Given the description of an element on the screen output the (x, y) to click on. 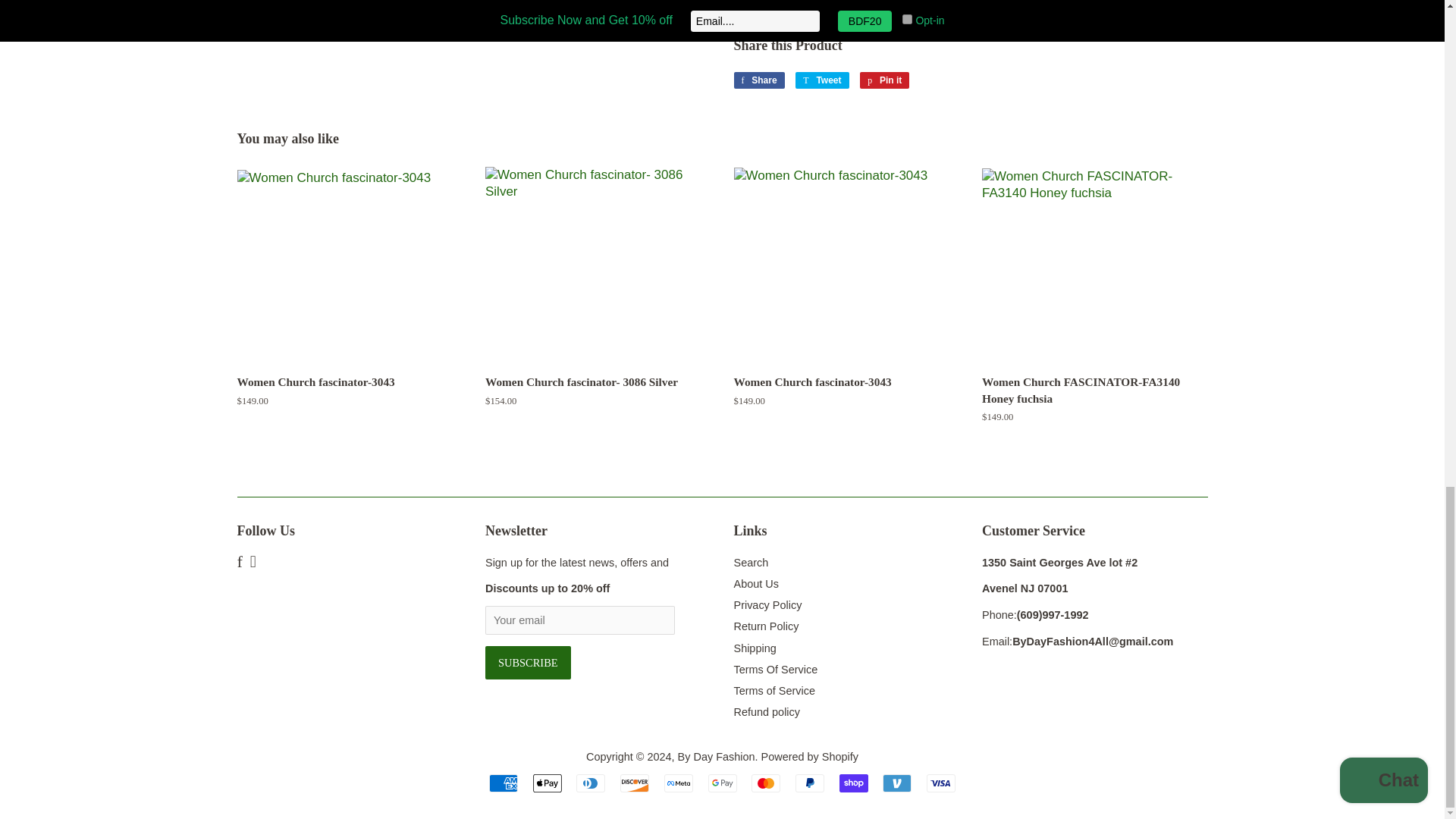
American Express (503, 782)
Venmo (896, 782)
Shop Pay (853, 782)
Visa (940, 782)
Meta Pay (678, 782)
Discover (634, 782)
Mastercard (765, 782)
PayPal (809, 782)
Tweet on Twitter (821, 80)
Google Pay (721, 782)
